Given the description of an element on the screen output the (x, y) to click on. 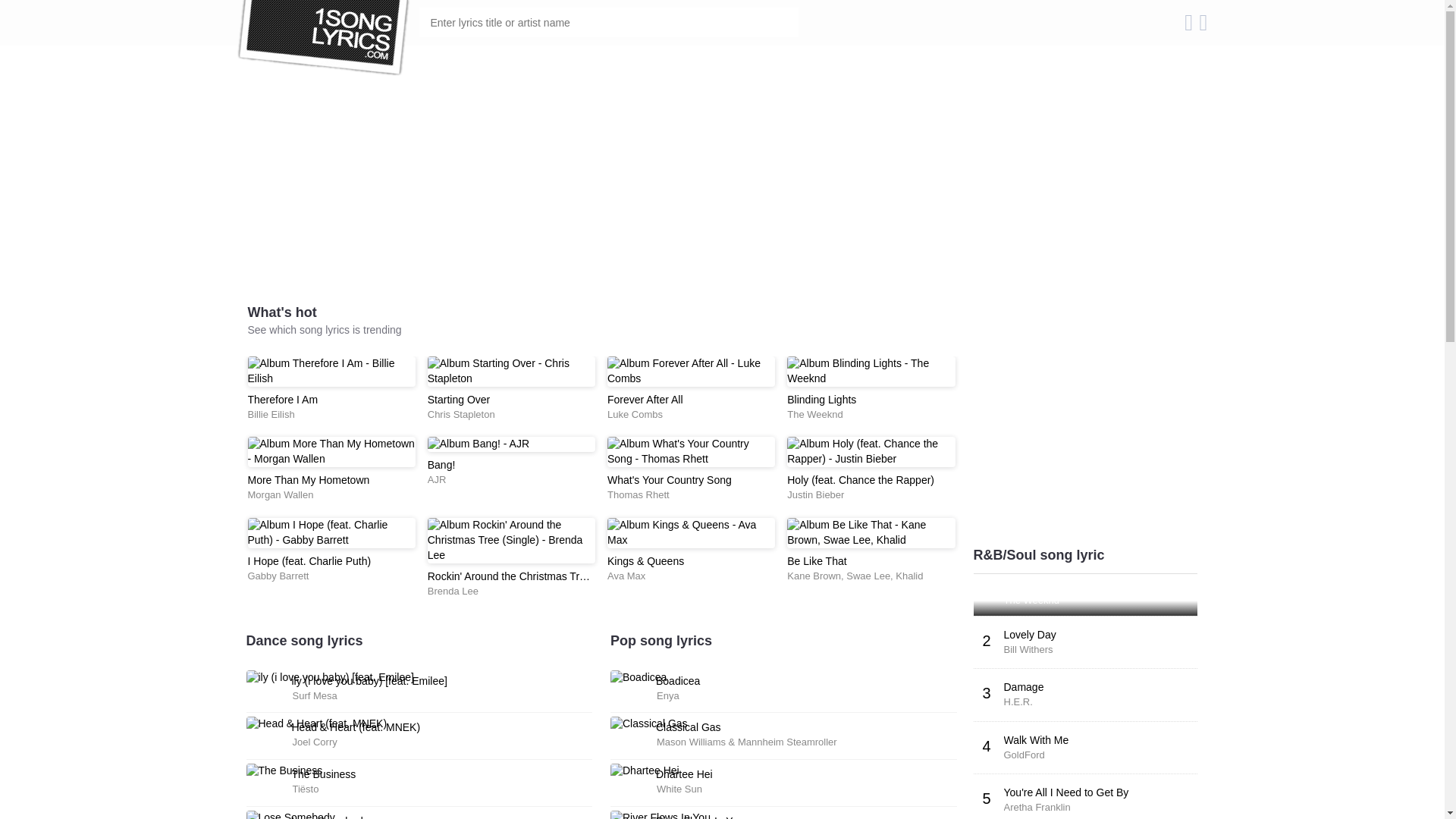
ily (i love you baby) [feat. Emilee] - Surf Mesa Element type: hover (329, 677)
Classical Gas - Mason Williams & Mannheim Steamroller Element type: hover (648, 723)
Holy (feat. Chance the Rapper) Element type: text (860, 479)
Billie Eilish Element type: text (270, 414)
White Sun Element type: text (679, 788)
Search Element type: text (784, 22)
Luke Combs Element type: text (634, 414)
Bang! - AJR song lyrics Element type: hover (511, 443)
Kings & Queens Element type: text (645, 561)
What's Your Country Song Element type: text (669, 479)
R&B/Soul song lyric Element type: text (1038, 554)
Gabby Barrett Element type: text (277, 575)
Dhartee Hei - White Sun Element type: hover (644, 770)
AJR Element type: text (436, 479)
Be Like That - Kane Brown, Swae Lee, Khalid song lyrics Element type: hover (870, 532)
Damage Element type: text (1024, 686)
Dhartee Hei Element type: text (683, 774)
Holy (feat. Chance the Rapper) - Justin Bieber song lyrics Element type: hover (870, 451)
Lovely Day Element type: text (1030, 634)
Enya Element type: text (667, 695)
Starting Over - Chris Stapleton song lyrics Element type: hover (511, 371)
Dance song lyrics Element type: text (303, 640)
Classical Gas Element type: text (688, 727)
More Than My Hometown - Morgan Wallen song lyrics Element type: hover (330, 451)
You're All I Need to Get By Element type: text (1066, 792)
Blinding Lights - The Weeknd song lyrics Element type: hover (870, 371)
Therefore I Am - Billie Eilish song lyrics Element type: hover (330, 371)
Boadicea Element type: text (677, 680)
I Hope (feat. Charlie Puth) - Gabby Barrett song lyrics Element type: hover (330, 532)
Starting Over Element type: text (458, 399)
H.E.R. Element type: text (1018, 701)
Rockin' Around the Christmas Tree (Single) Element type: text (528, 576)
Be Like That Element type: text (816, 561)
1 Song Lyrics Element type: hover (323, 37)
Head & Heart (feat. MNEK) - Joel Corry Element type: hover (315, 723)
Brenda Lee Element type: text (452, 590)
Kane Brown, Swae Lee, Khalid Element type: text (854, 575)
More Than My Hometown Element type: text (308, 479)
Forever After All Element type: text (645, 399)
Head & Heart (feat. MNEK) Element type: text (355, 727)
GoldFord Element type: text (1024, 754)
Aretha Franklin Element type: text (1037, 806)
Bill Withers Element type: text (1028, 649)
Surf Mesa Element type: text (314, 695)
Mason Williams & Mannheim Steamroller Element type: text (746, 741)
Blinding Lights Element type: text (1038, 585)
Walk With Me Element type: text (1036, 740)
The Business Element type: text (323, 774)
Ava Max Element type: text (626, 575)
Thomas Rhett Element type: text (638, 494)
The Weeknd Element type: text (1031, 599)
ily (i love you baby) [feat. Emilee] Element type: text (368, 680)
Bang! Element type: text (441, 464)
What's Your Country Song - Thomas Rhett song lyrics Element type: hover (691, 451)
Forever After All - Luke Combs song lyrics Element type: hover (691, 371)
Morgan Wallen Element type: text (280, 494)
What's hot Element type: text (281, 312)
Blinding Lights Element type: text (821, 399)
Justin Bieber Element type: text (815, 494)
Advertisement Element type: hover (600, 197)
Chris Stapleton Element type: text (461, 414)
Boadicea - Enya Element type: hover (638, 677)
The Weeknd Element type: text (814, 414)
Therefore I Am Element type: text (282, 399)
Joel Corry Element type: text (314, 741)
I Hope (feat. Charlie Puth) Element type: text (308, 561)
Pop song lyrics Element type: text (661, 640)
Kings & Queens - Ava Max song lyrics Element type: hover (691, 532)
Advertisement Element type: hover (1085, 318)
